Given the description of an element on the screen output the (x, y) to click on. 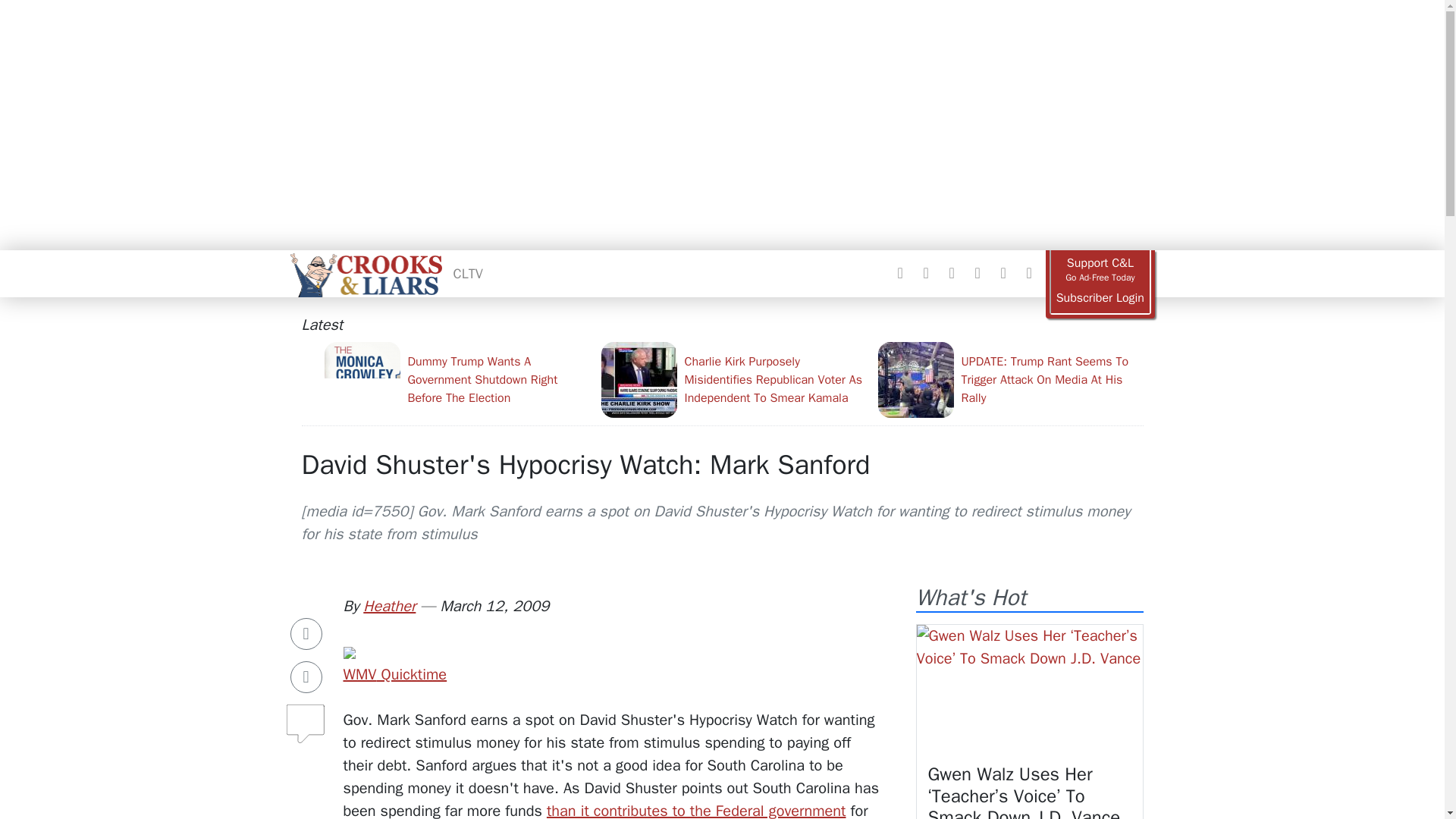
Heather (388, 606)
Heather (388, 606)
David Shuster's Hypocrisy Watch: Mark Sanford (585, 464)
Share on Facebook (306, 634)
than it contributes to the Federal government (696, 810)
Subscriber Login (1099, 298)
